Given the description of an element on the screen output the (x, y) to click on. 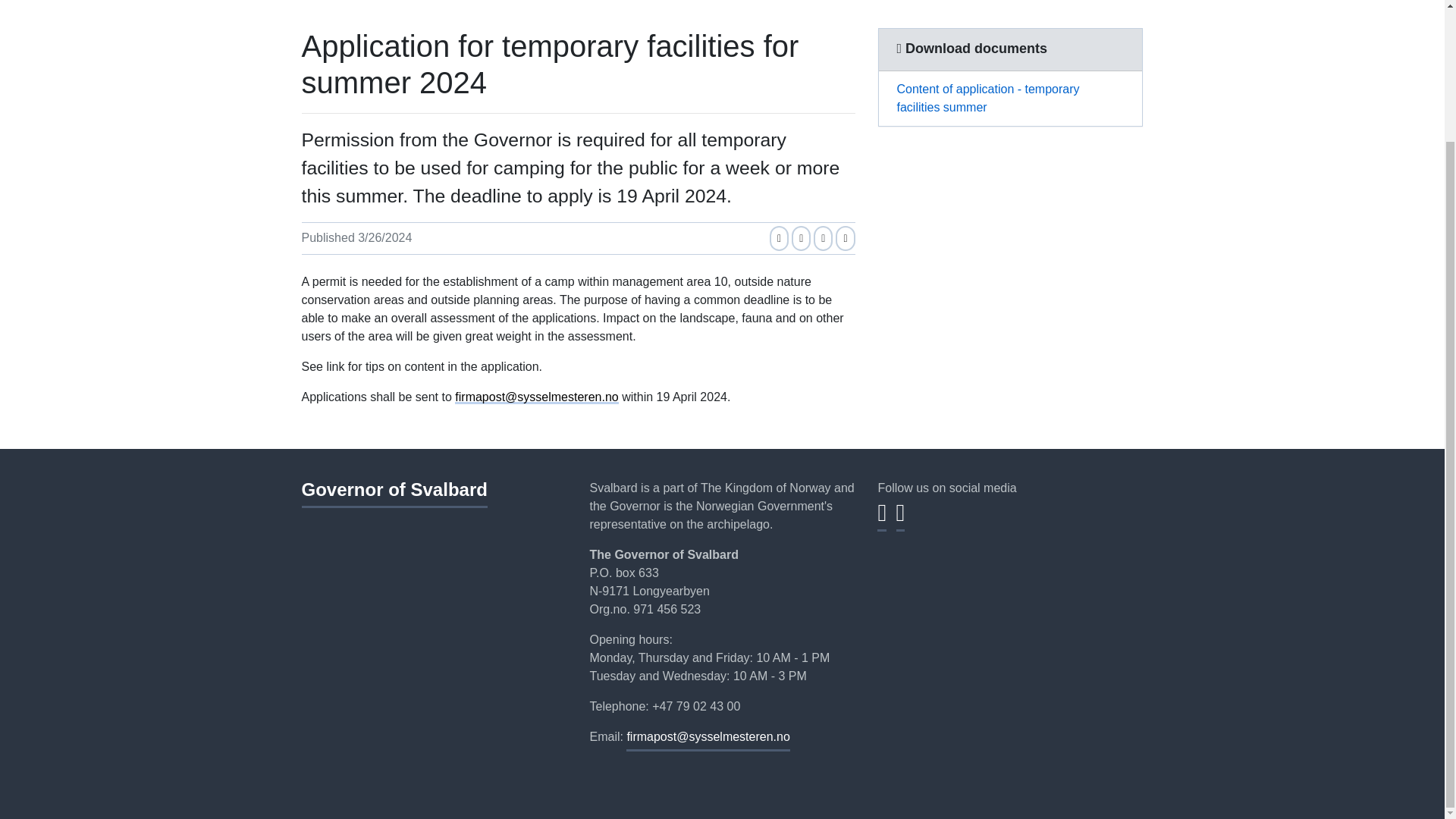
Content of application - temporary facilities summer (1009, 98)
firmapost (707, 740)
Governor of Svalbard (394, 493)
Content of application - temporary facilities summer (1009, 98)
